Given the description of an element on the screen output the (x, y) to click on. 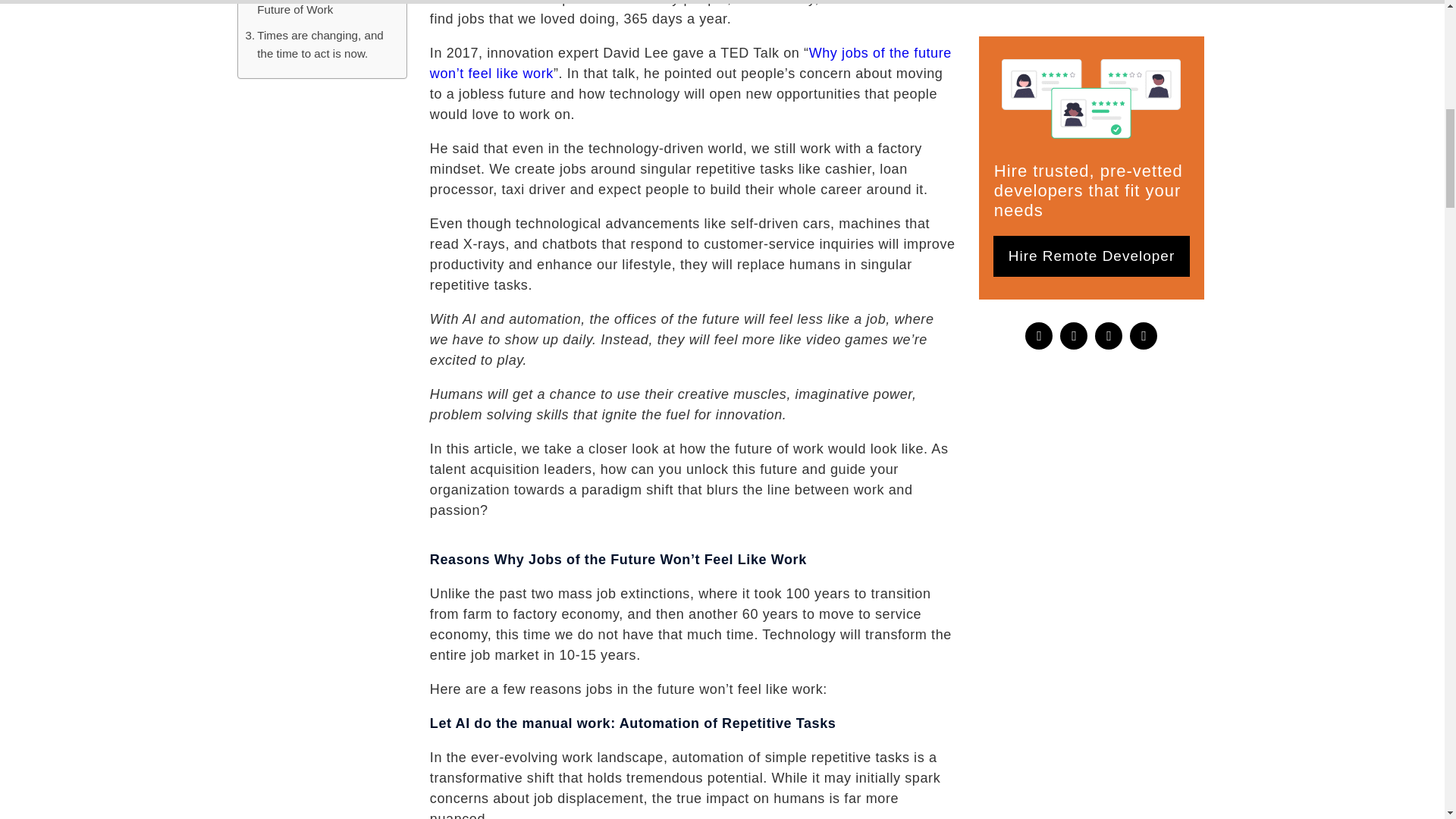
Times are changing, and the time to act is now. (318, 44)
Times are changing, and the time to act is now. (318, 44)
Hire Remote Developer (1091, 83)
